Given the description of an element on the screen output the (x, y) to click on. 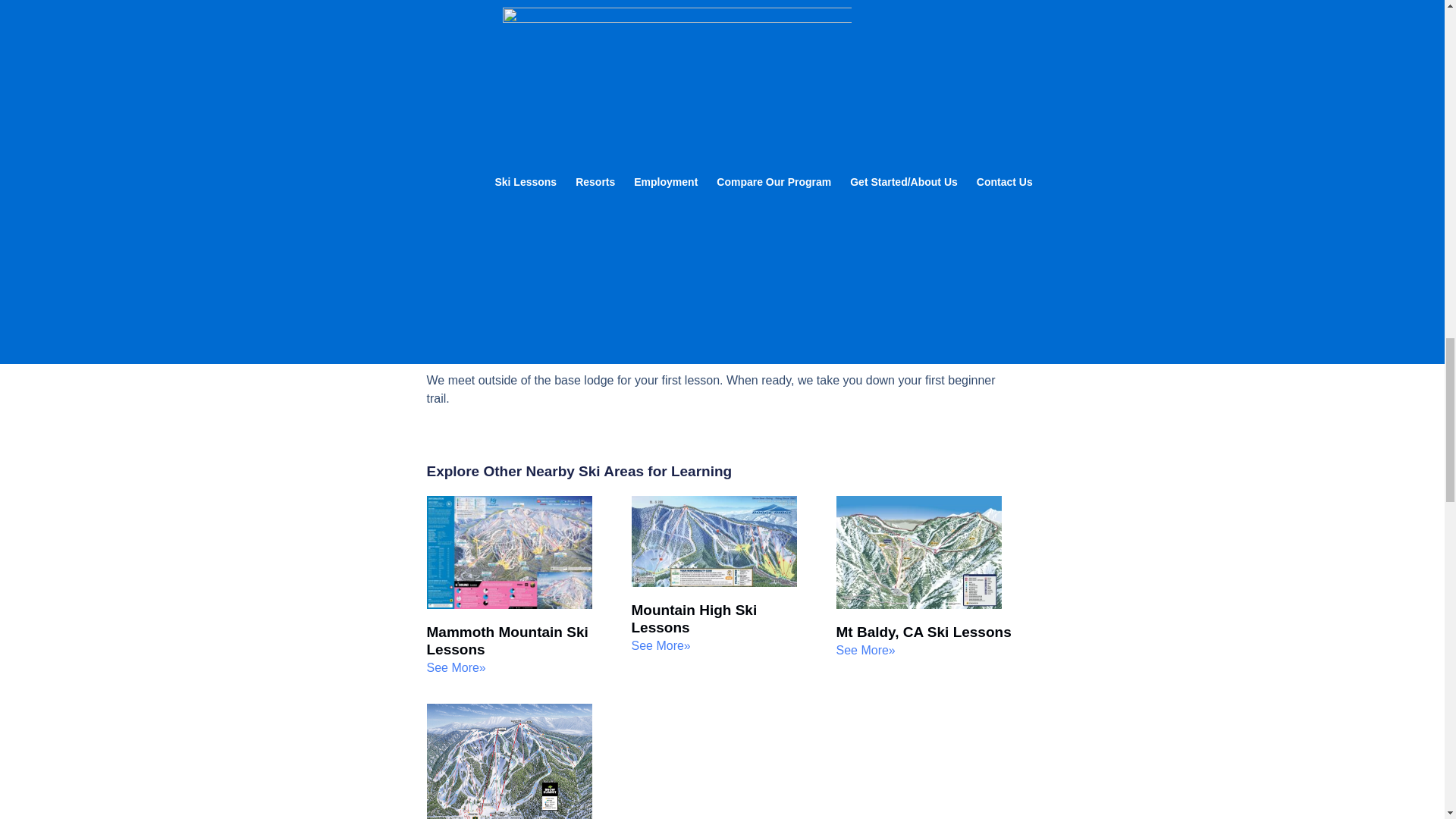
Mammoth Mountain Ski Lessons (507, 640)
Mt Baldy, CA Ski Lessons (922, 631)
Mountain High Ski Lessons (693, 618)
